Given the description of an element on the screen output the (x, y) to click on. 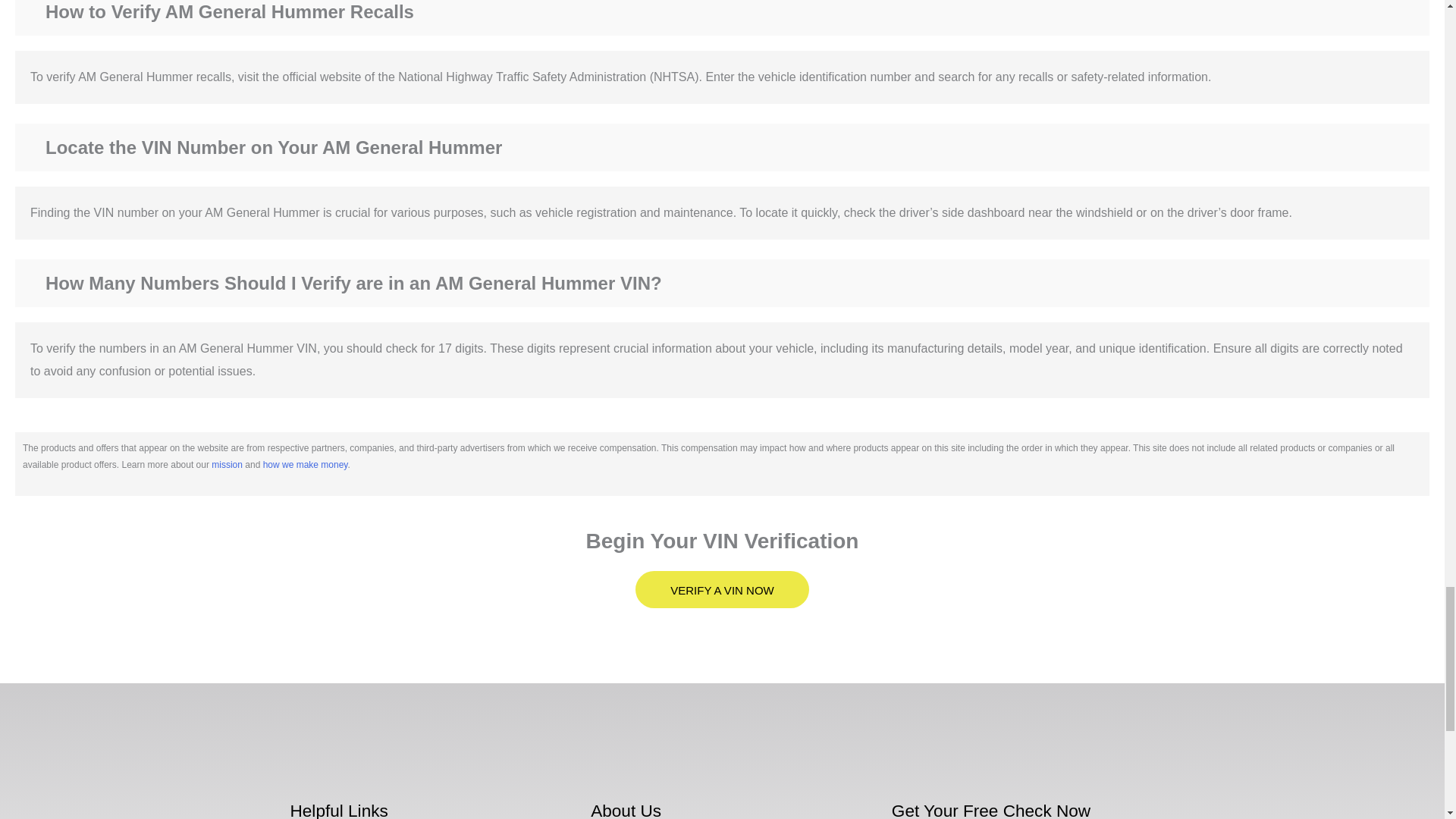
how we make money (305, 464)
mission (227, 464)
VERIFY A VIN NOW (721, 589)
